Given the description of an element on the screen output the (x, y) to click on. 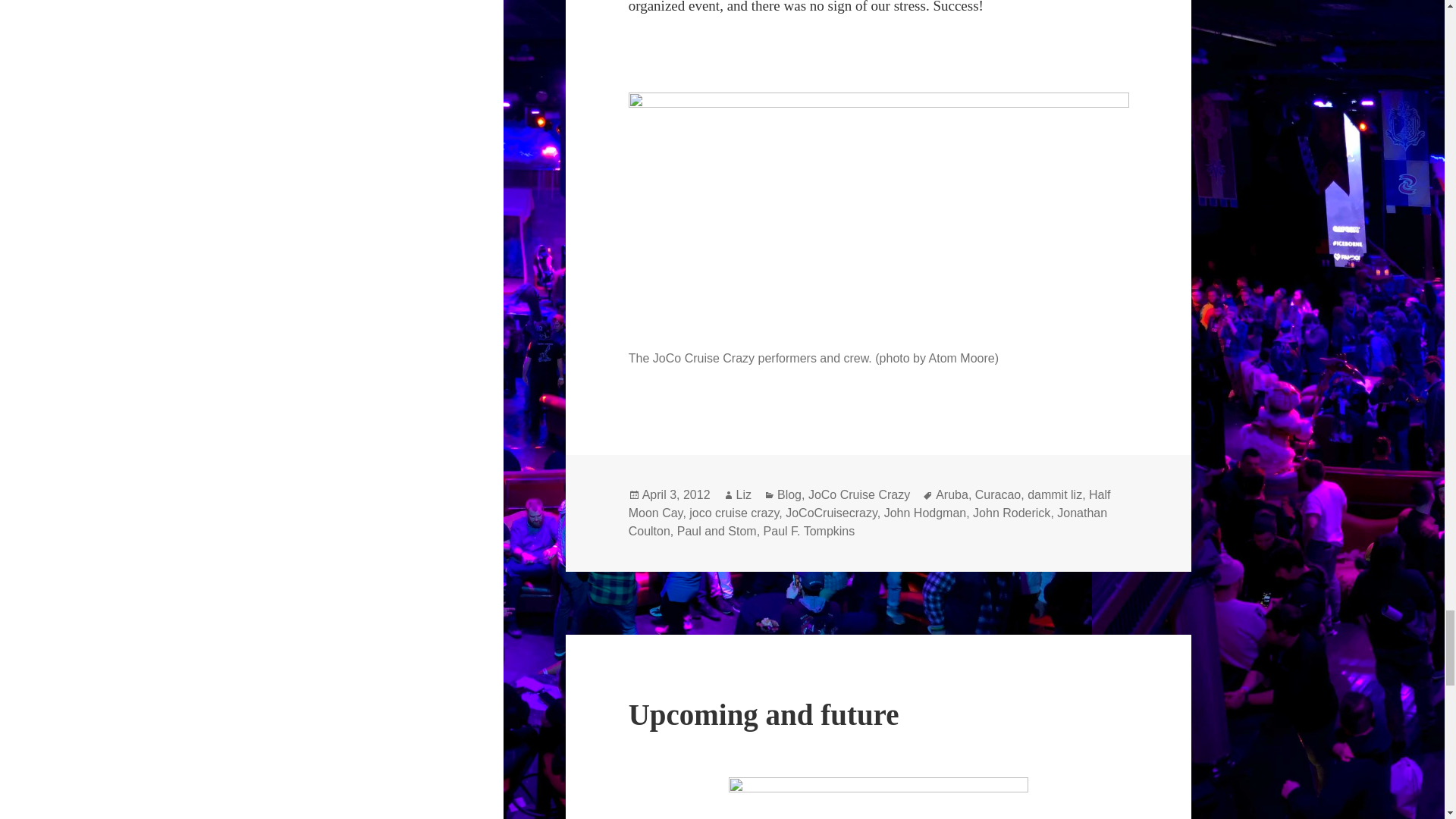
John Hodgman (924, 513)
Aruba (952, 495)
joco cruise crazy (733, 513)
Half Moon Cay (869, 504)
JCCC2 Performers and Crew (878, 216)
JoCo Cruise Crazy (859, 495)
Paul and Stom (717, 531)
April 3, 2012 (676, 495)
John Roderick (1010, 513)
Curacao (997, 495)
